Given the description of an element on the screen output the (x, y) to click on. 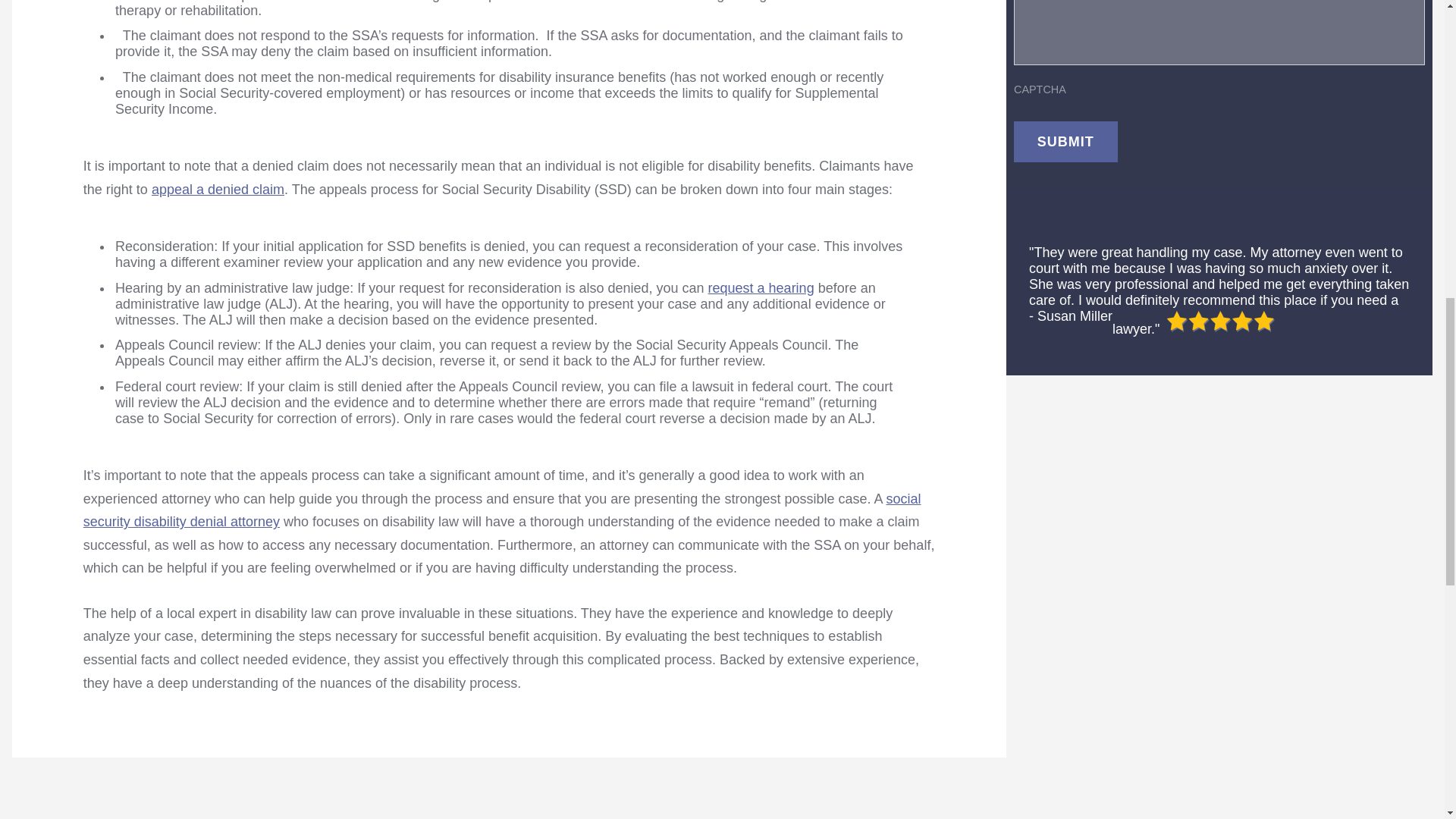
Submit (1065, 141)
